Given the description of an element on the screen output the (x, y) to click on. 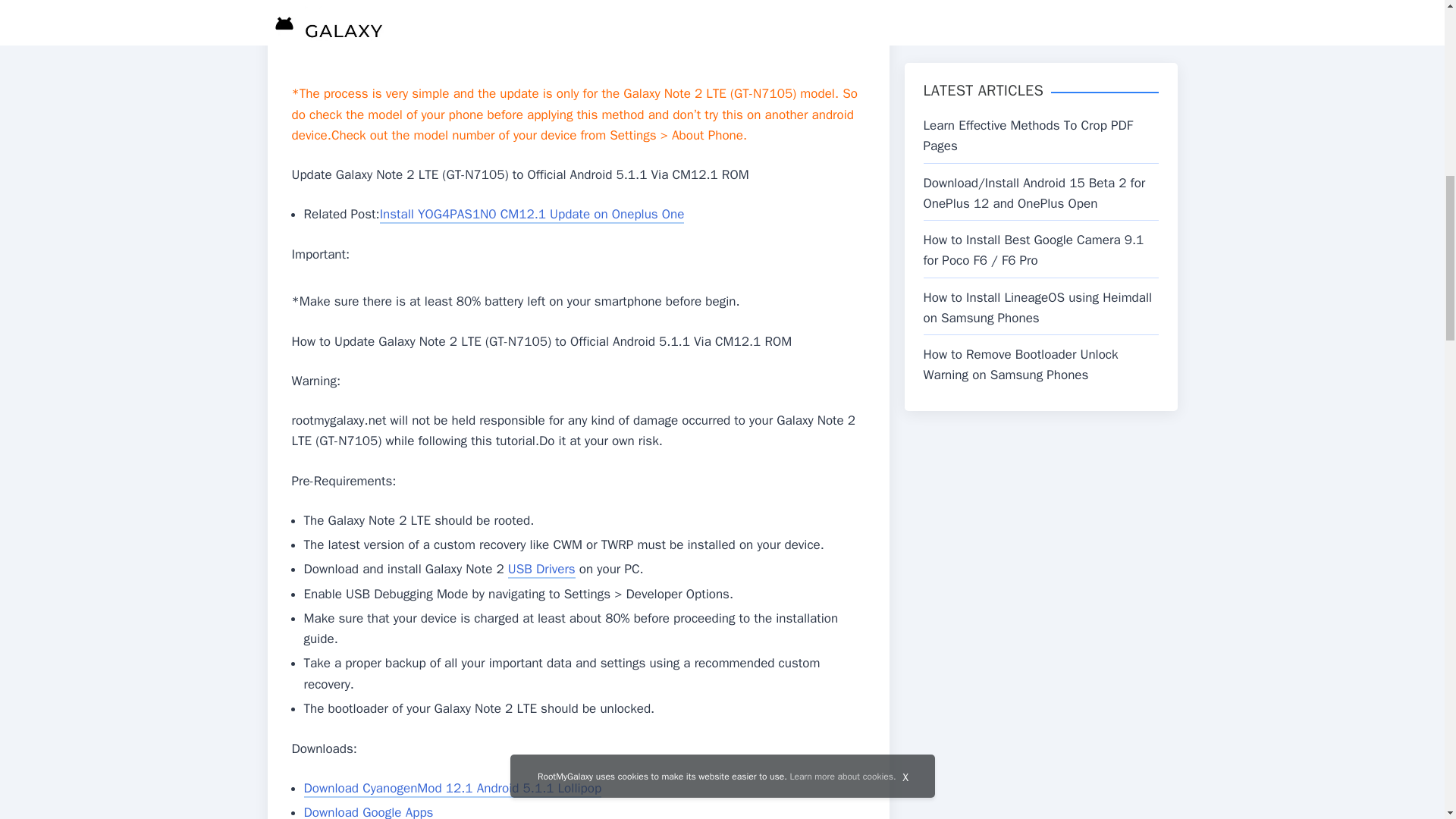
Download Google Apps (368, 811)
Advertisement (577, 38)
Download CyanogenMod 12.1 Android 5.1.1 Lollipop (453, 788)
Install YOG4PAS1N0 CM12.1 Update on Oneplus One (532, 214)
USB Drivers (541, 569)
